Given the description of an element on the screen output the (x, y) to click on. 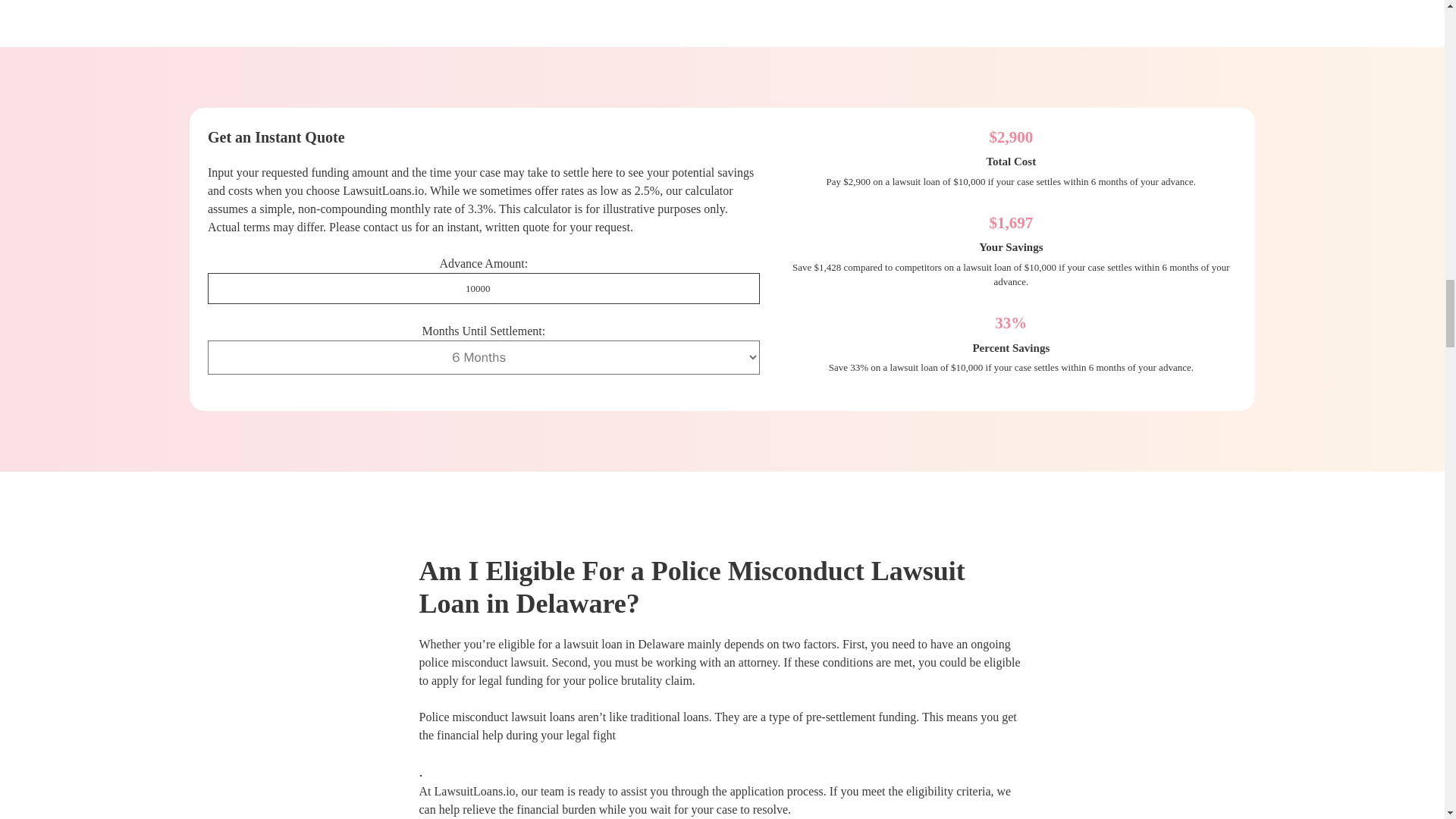
10000 (484, 288)
